Given the description of an element on the screen output the (x, y) to click on. 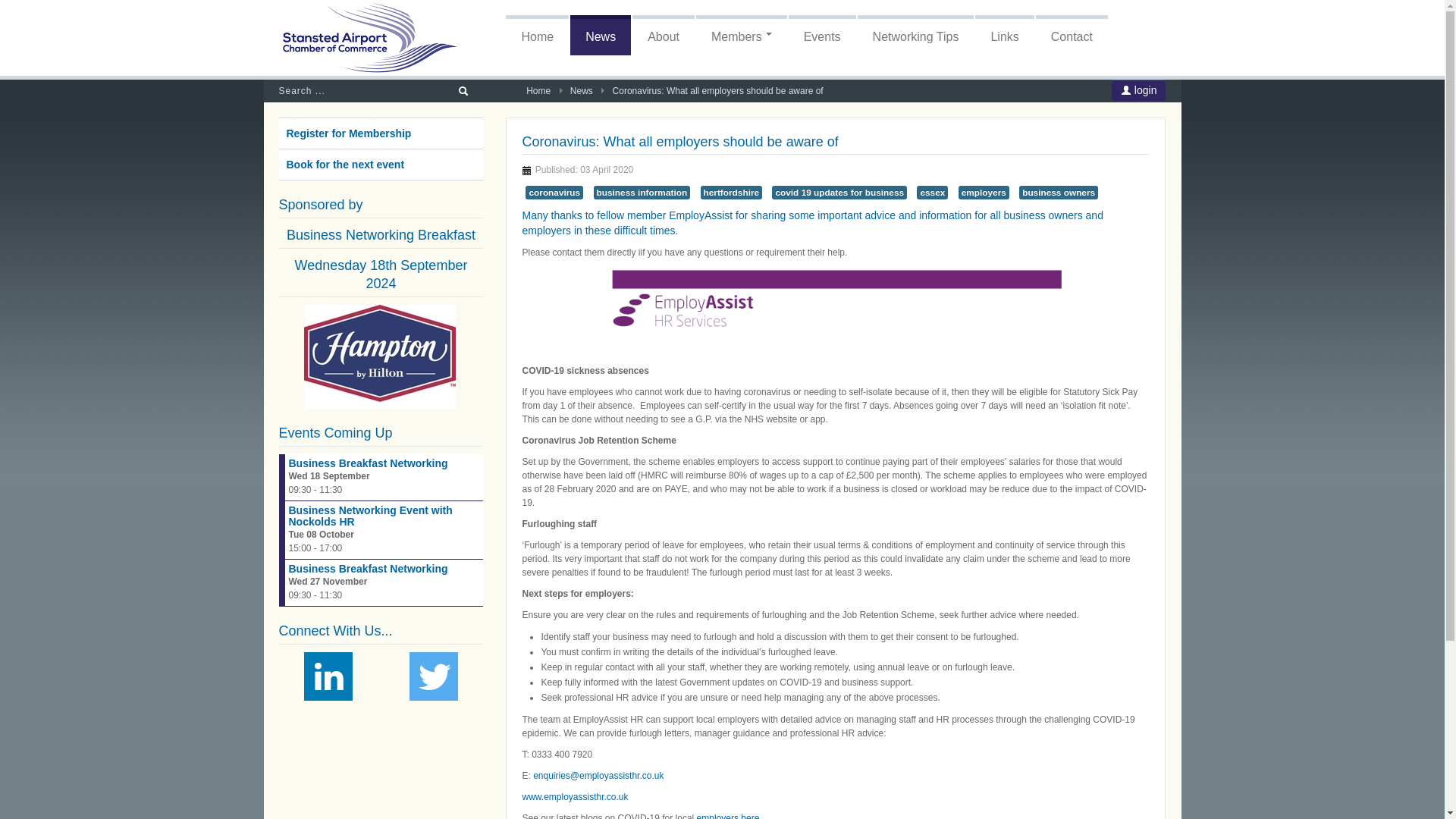
Home (537, 90)
Coronavirus: What all employers should be aware of (679, 141)
Search ... (360, 90)
News (600, 35)
Members (741, 35)
Events (822, 35)
Networking Tips (915, 35)
Book for the next event (381, 164)
Contact (1071, 35)
employers (983, 192)
